Given the description of an element on the screen output the (x, y) to click on. 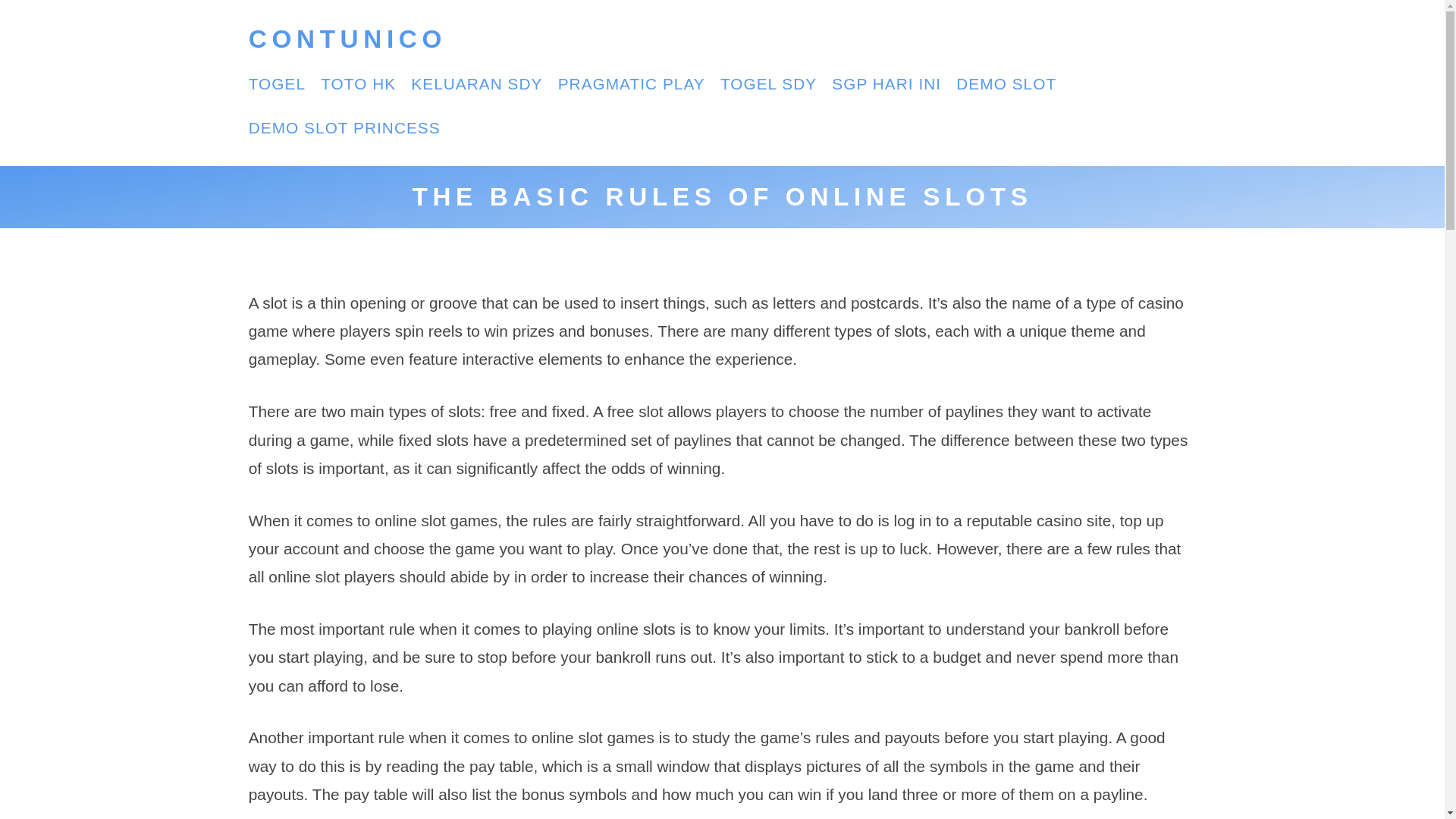
TOGEL SDY (768, 83)
TOGEL (276, 83)
KELUARAN SDY (475, 83)
DEMO SLOT PRINCESS (344, 127)
SGP HARI INI (885, 83)
PRAGMATIC PLAY (630, 83)
TOTO HK (358, 83)
CONTUNICO (347, 39)
DEMO SLOT (1006, 83)
